Given the description of an element on the screen output the (x, y) to click on. 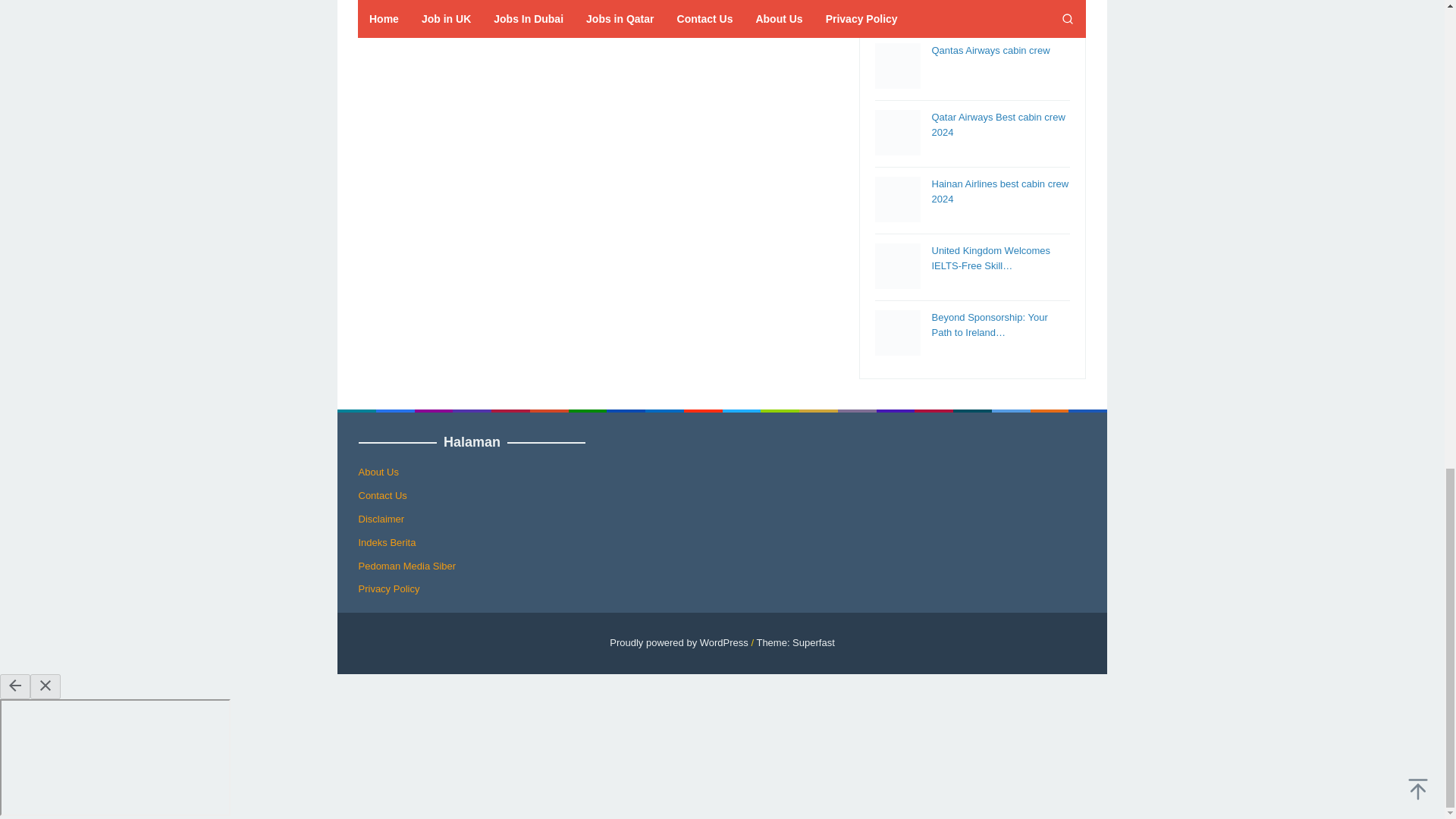
About Us (377, 471)
Qantas Airways cabin crew (990, 50)
qantas-airways-cabin-crew.jpg (897, 65)
Permalink to: Qantas Airways cabin crew (990, 50)
Indeks Berita (386, 542)
Pedoman Media Siber (406, 565)
Permalink to: Qatar Airways Best cabin crew 2024 (997, 124)
Proudly powered by WordPress (679, 642)
